Given the description of an element on the screen output the (x, y) to click on. 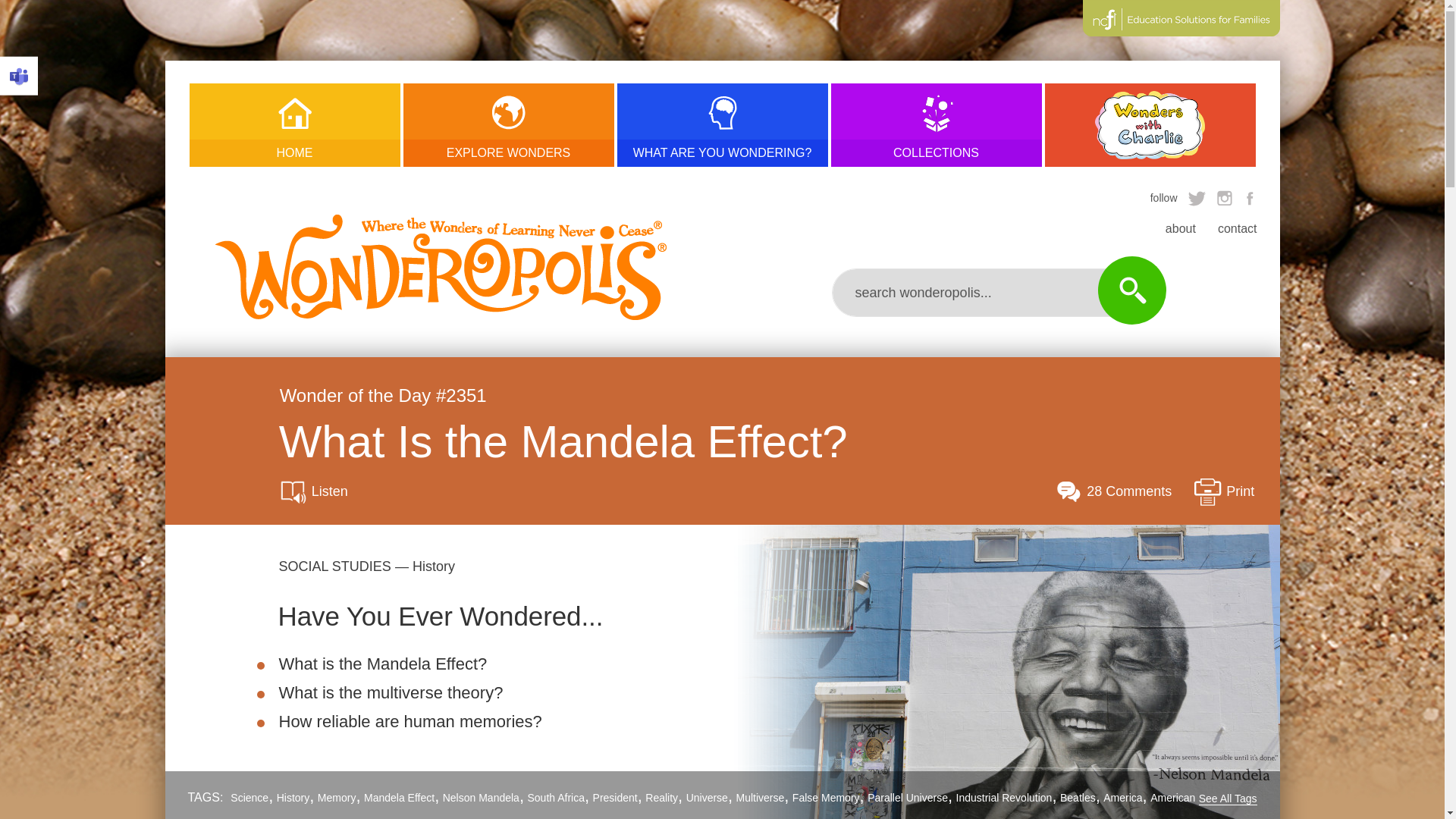
28 Comments (1113, 492)
submit (1131, 290)
instagram (1224, 197)
twitter (1196, 197)
facebook (1249, 197)
HOME (294, 125)
WHAT ARE YOU WONDERING? (722, 125)
submit (1131, 290)
EXPLORE WONDERS (508, 125)
COLLECTIONS (936, 125)
